Given the description of an element on the screen output the (x, y) to click on. 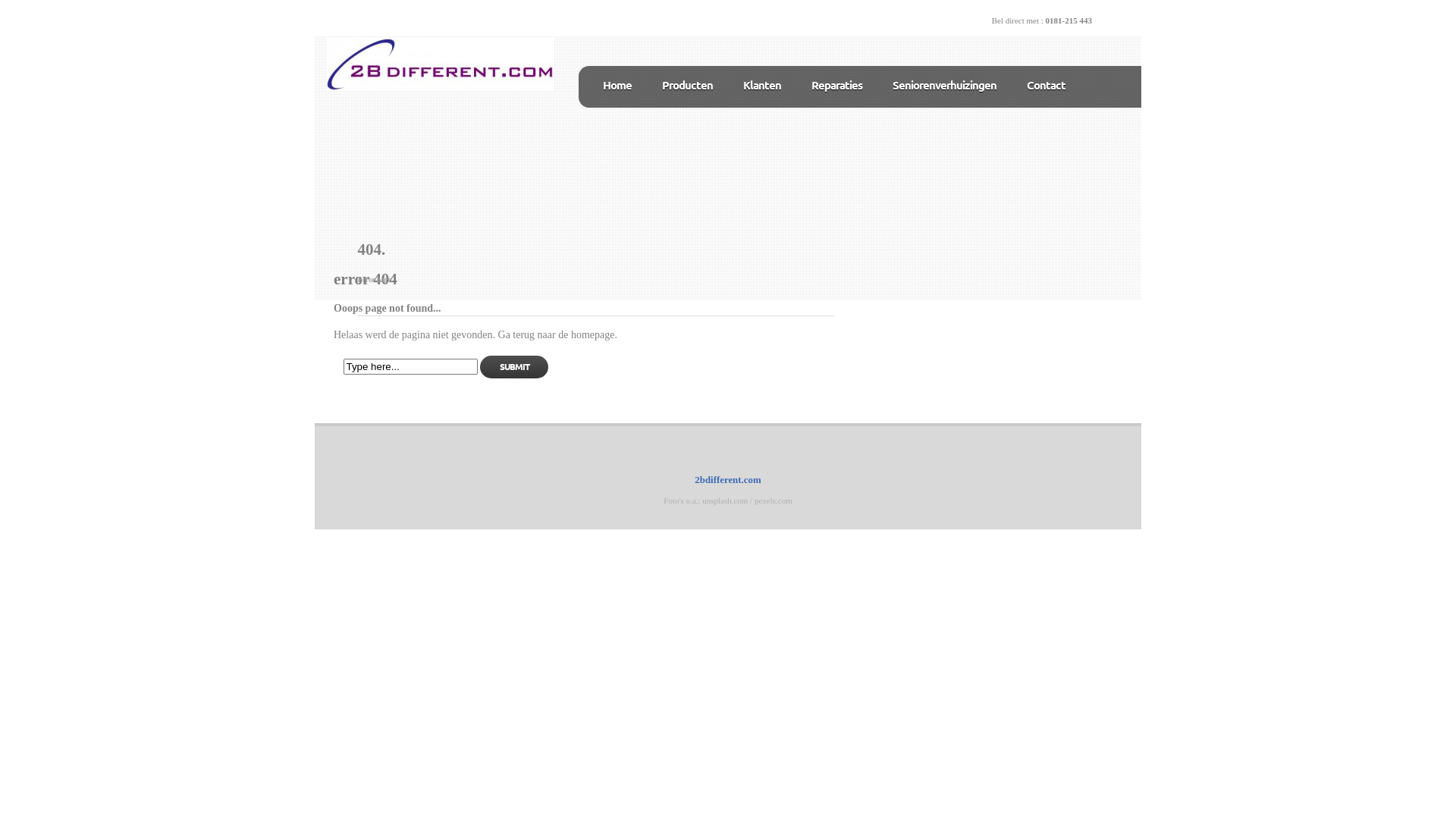
Klanten Element type: text (762, 84)
Reparaties Element type: text (836, 84)
Contact Element type: text (1045, 84)
Submit Element type: text (514, 366)
Seniorenverhuizingen Element type: text (944, 84)
Producten Element type: text (687, 84)
Home Element type: text (616, 84)
